Given the description of an element on the screen output the (x, y) to click on. 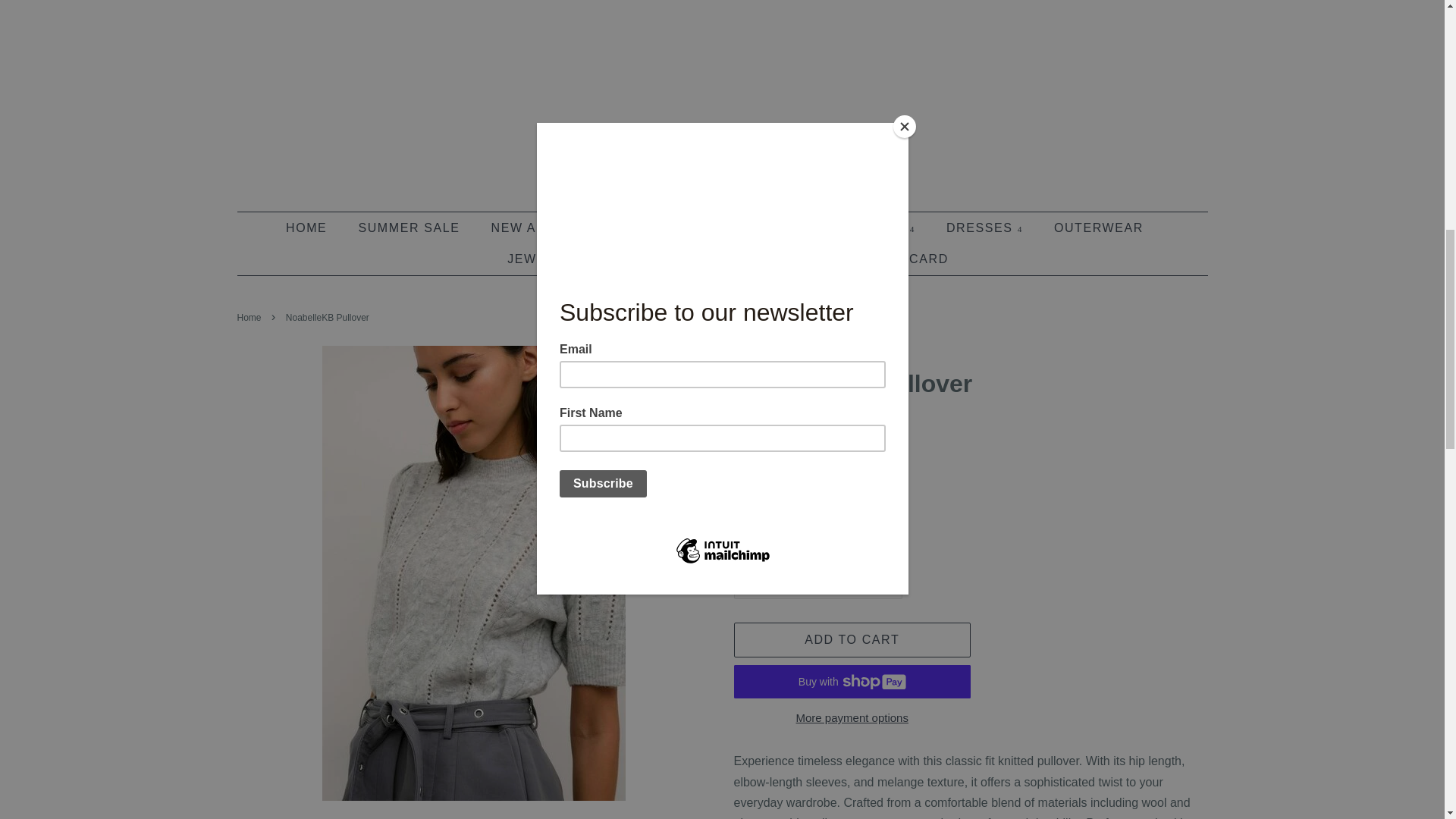
Back to the frontpage (249, 317)
1 (817, 583)
